Given the description of an element on the screen output the (x, y) to click on. 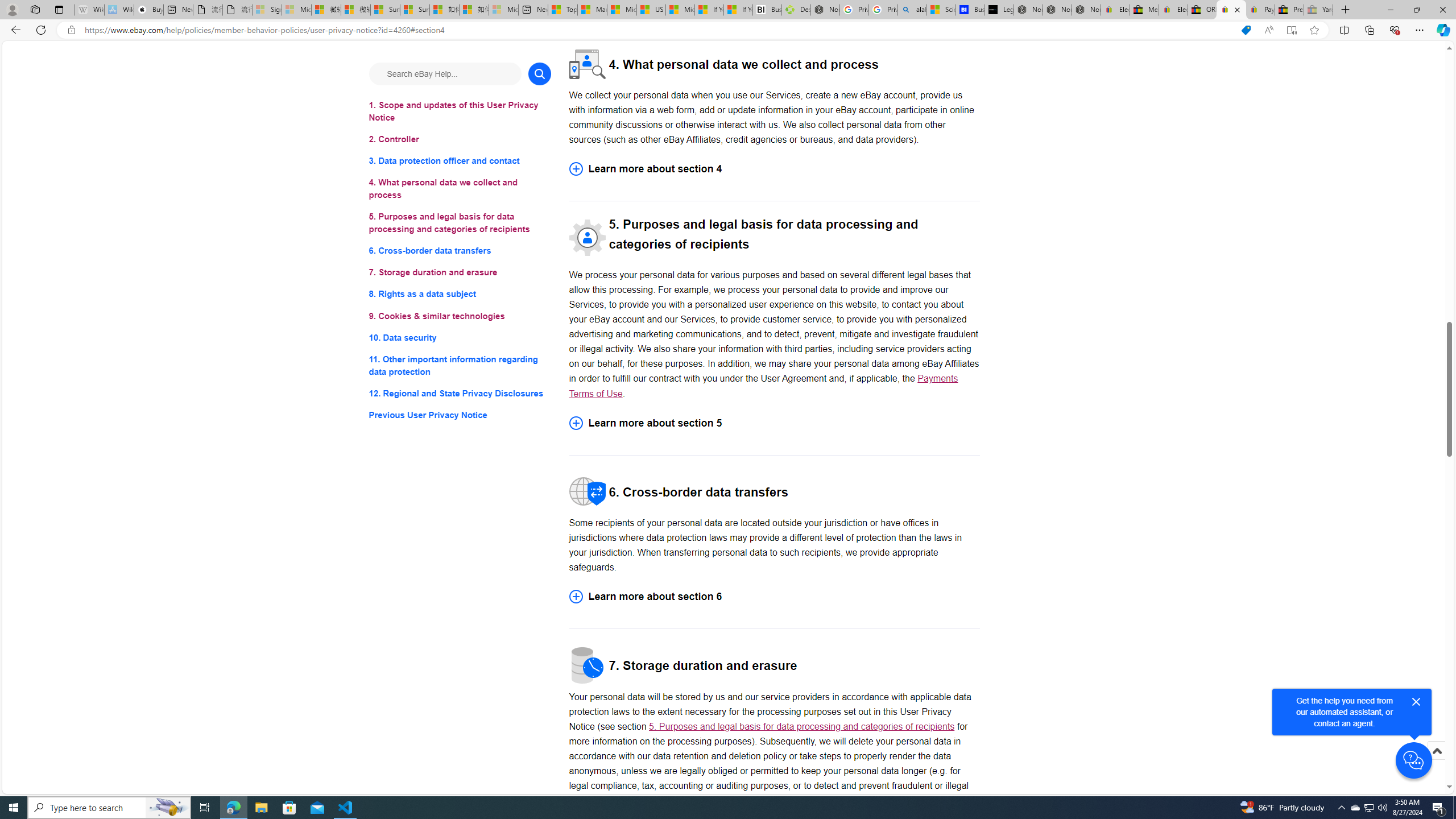
7. Storage duration and erasure (459, 272)
12. Regional and State Privacy Disclosures (459, 392)
2. Controller (459, 138)
10. Data security (459, 336)
11. Other important information regarding data protection (459, 365)
4. What personal data we collect and process (459, 189)
11. Other important information regarding data protection (459, 365)
Learn more about section 5 (774, 422)
